Given the description of an element on the screen output the (x, y) to click on. 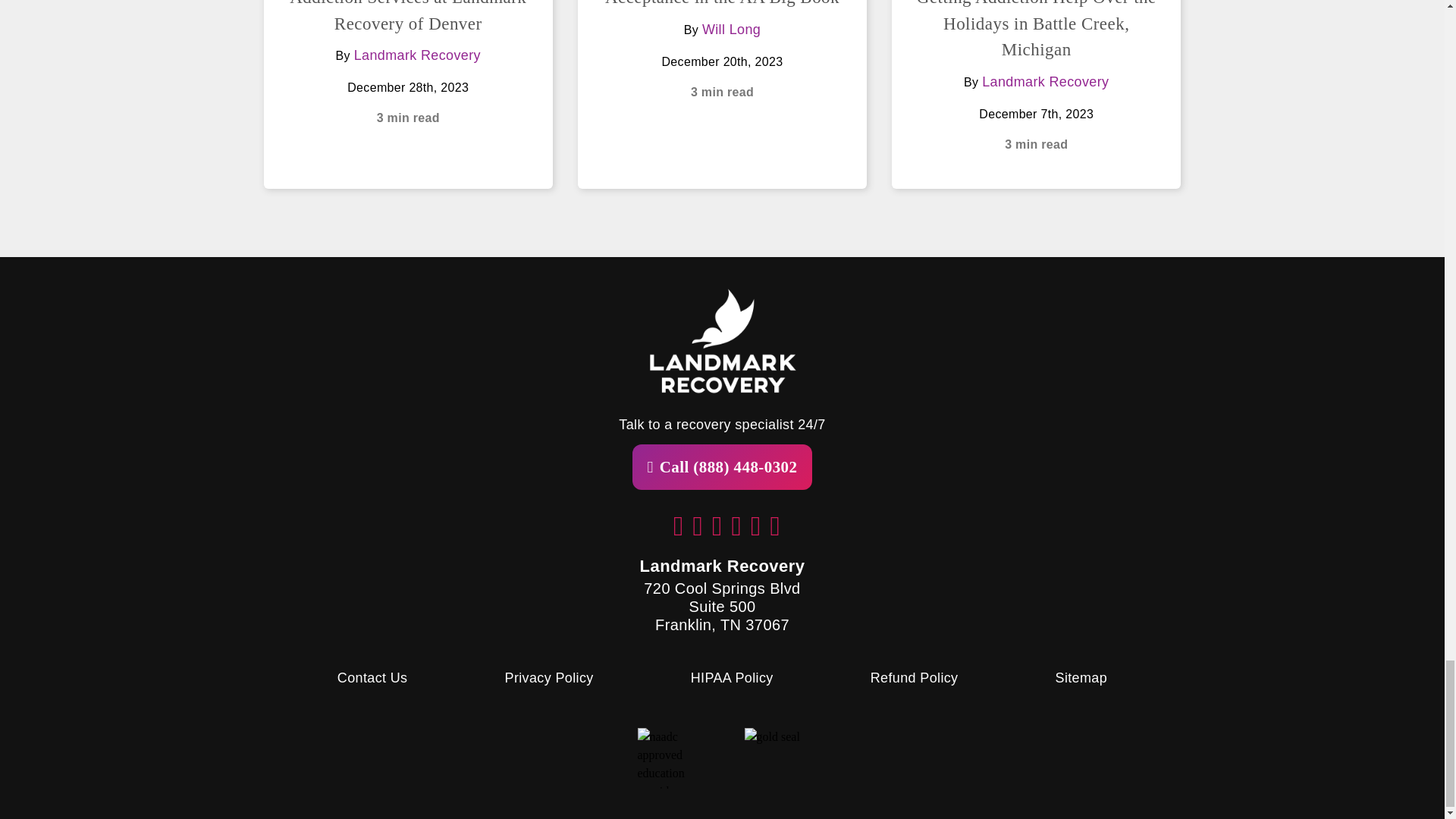
Permanent Link to Acceptance in the AA Big Book (722, 3)
Landmark Recovery (416, 55)
Landmark Recovery (1044, 81)
Will Long (730, 29)
